Given the description of an element on the screen output the (x, y) to click on. 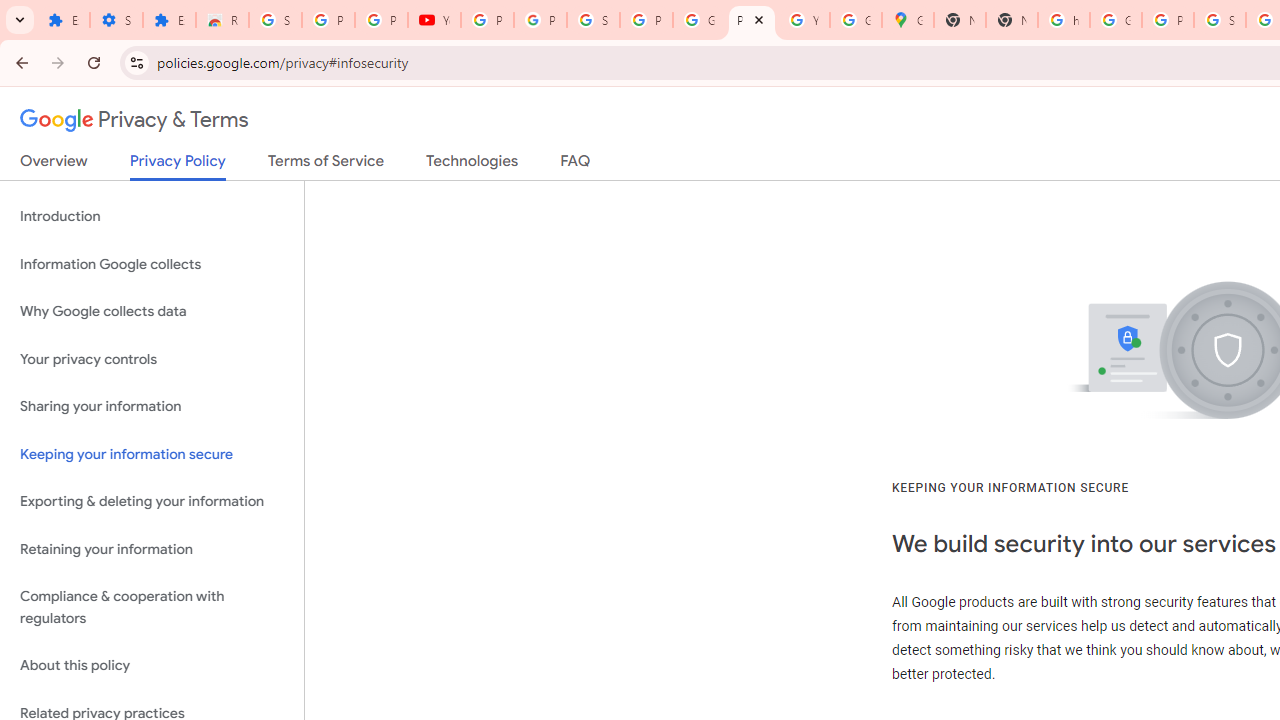
Google Account (699, 20)
YouTube (434, 20)
https://scholar.google.com/ (1064, 20)
